Given the description of an element on the screen output the (x, y) to click on. 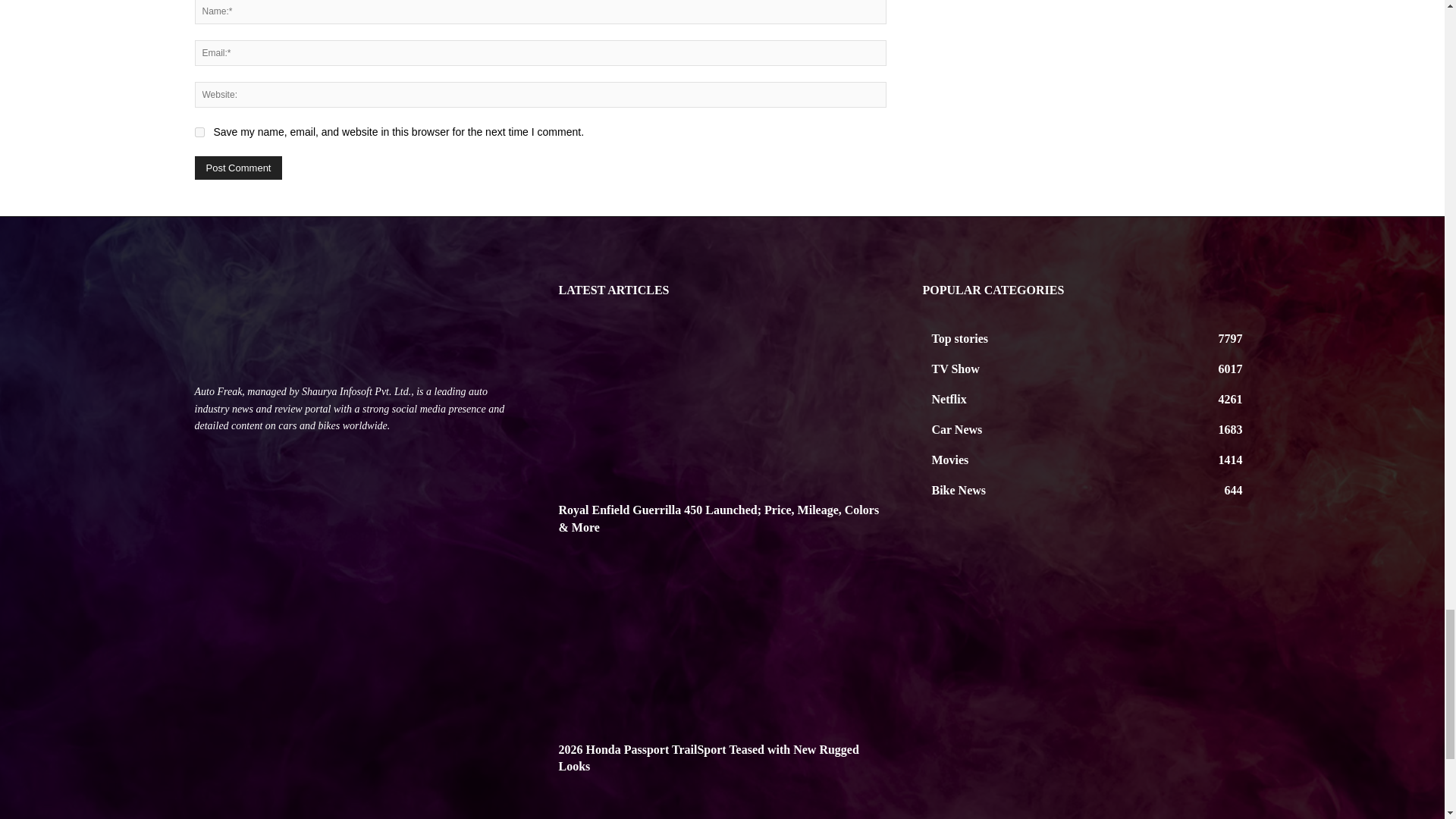
Post Comment (237, 167)
yes (198, 132)
